Given the description of an element on the screen output the (x, y) to click on. 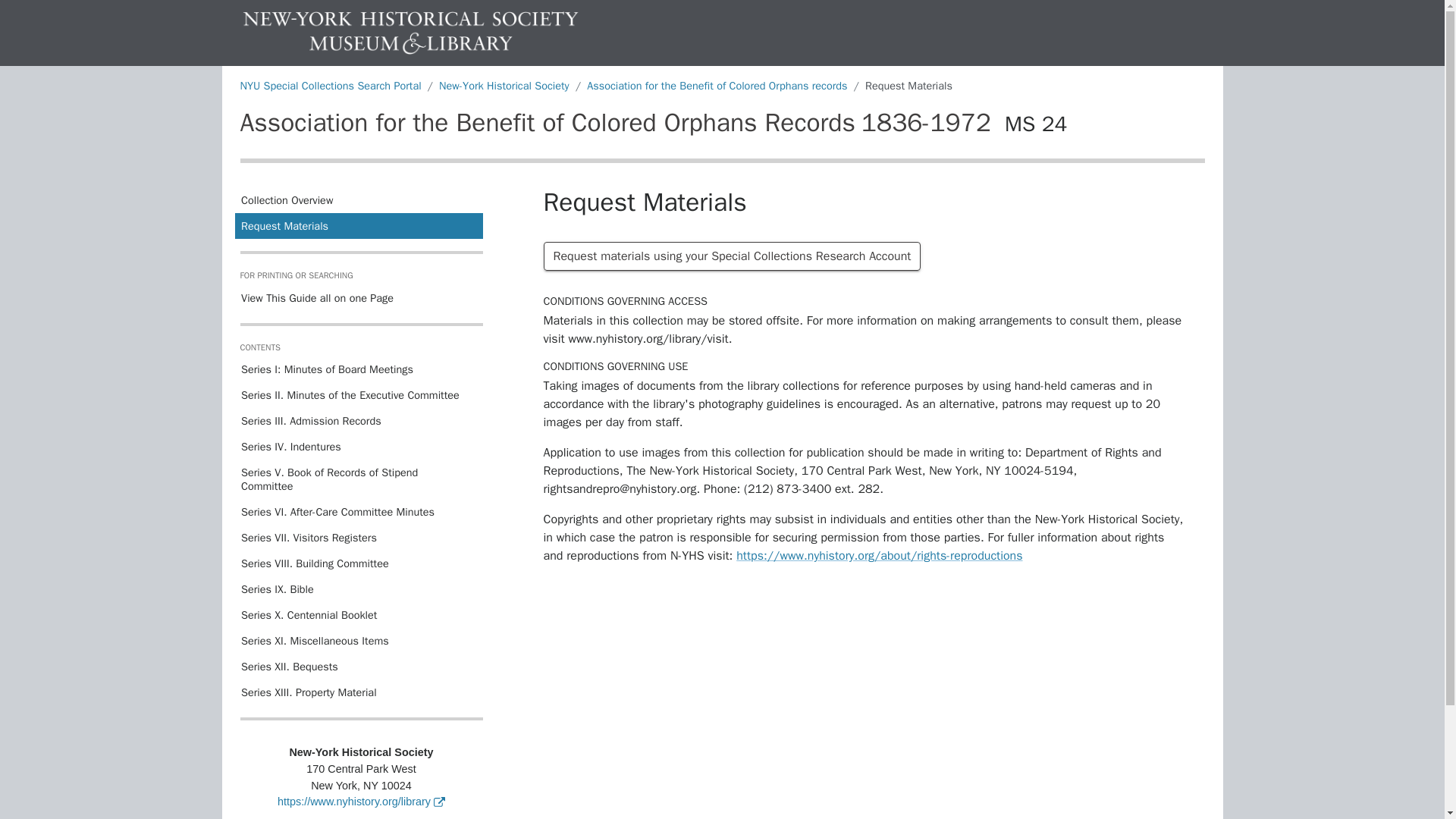
Series VII. Visitors Registers (357, 537)
Series III. Admission Records (357, 420)
Series XI. Miscellaneous Items (357, 640)
NYU Special Collections Search Portal (330, 85)
Series V. Book of Records of Stipend Committee (357, 478)
Series VI. After-Care Committee Minutes (357, 511)
Series X. Centennial Booklet (357, 614)
Series IV. Indentures (357, 446)
Series XII. Bequests (357, 666)
